Given the description of an element on the screen output the (x, y) to click on. 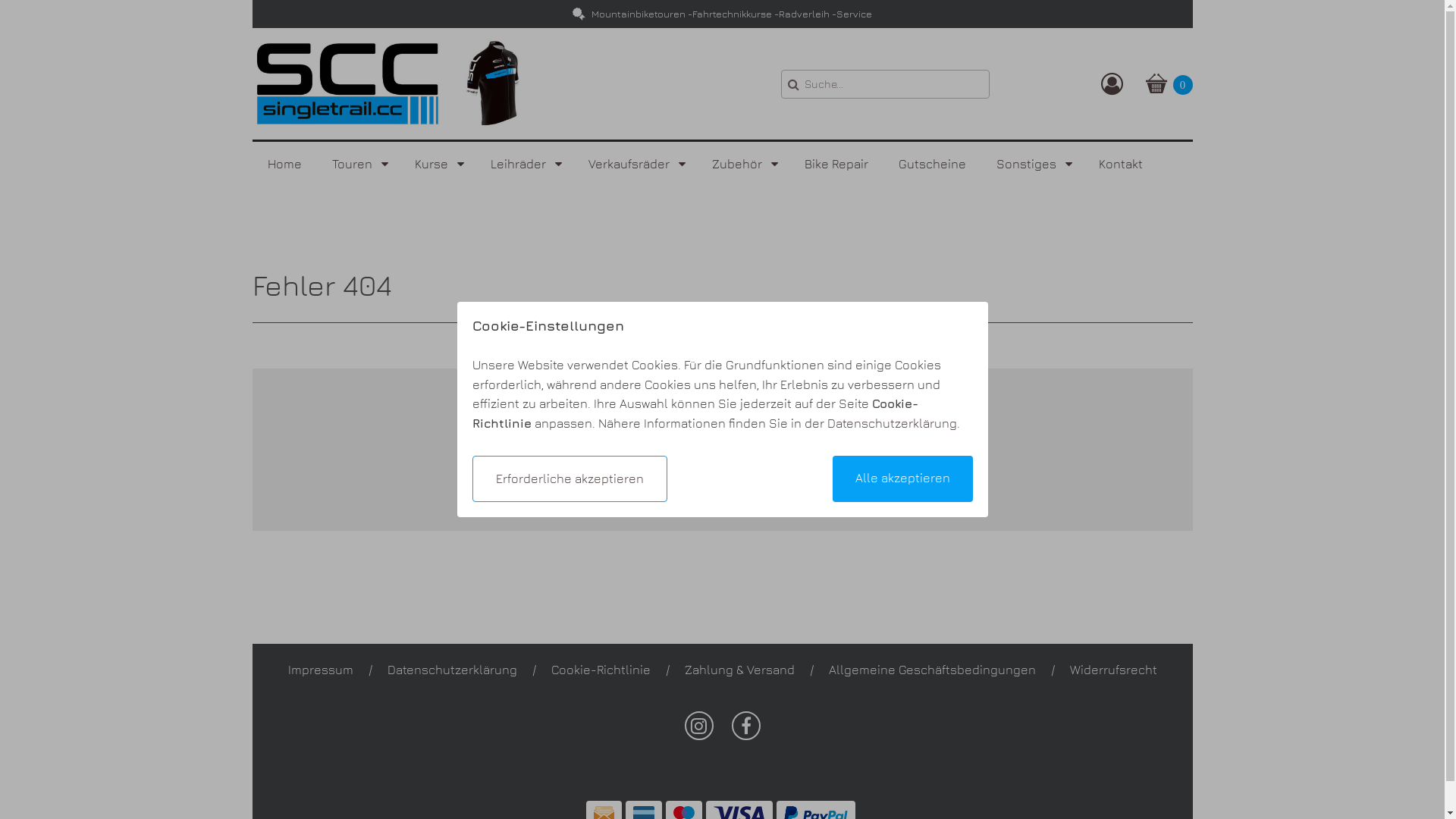
Cookie-Richtlinie Element type: text (599, 669)
Touren Element type: text (357, 163)
singletrail.cc Element type: hover (387, 83)
Impressum Element type: text (320, 669)
Erforderliche akzeptieren Element type: text (568, 478)
Kontakt Element type: text (1119, 163)
Kurse Element type: text (436, 163)
Alle akzeptieren Element type: text (902, 478)
Sonstiges Element type: text (1032, 163)
Widerrufsrecht Element type: text (1112, 669)
Gutscheine Element type: text (931, 163)
Zahlung & Versand Element type: text (738, 669)
Warenkorb anzeigen. Sie haben 0 Artikel im Warenkorb.
0 Element type: text (1168, 83)
Home Element type: text (283, 163)
Suche Element type: text (793, 83)
Bike Repair Element type: text (835, 163)
